Given the description of an element on the screen output the (x, y) to click on. 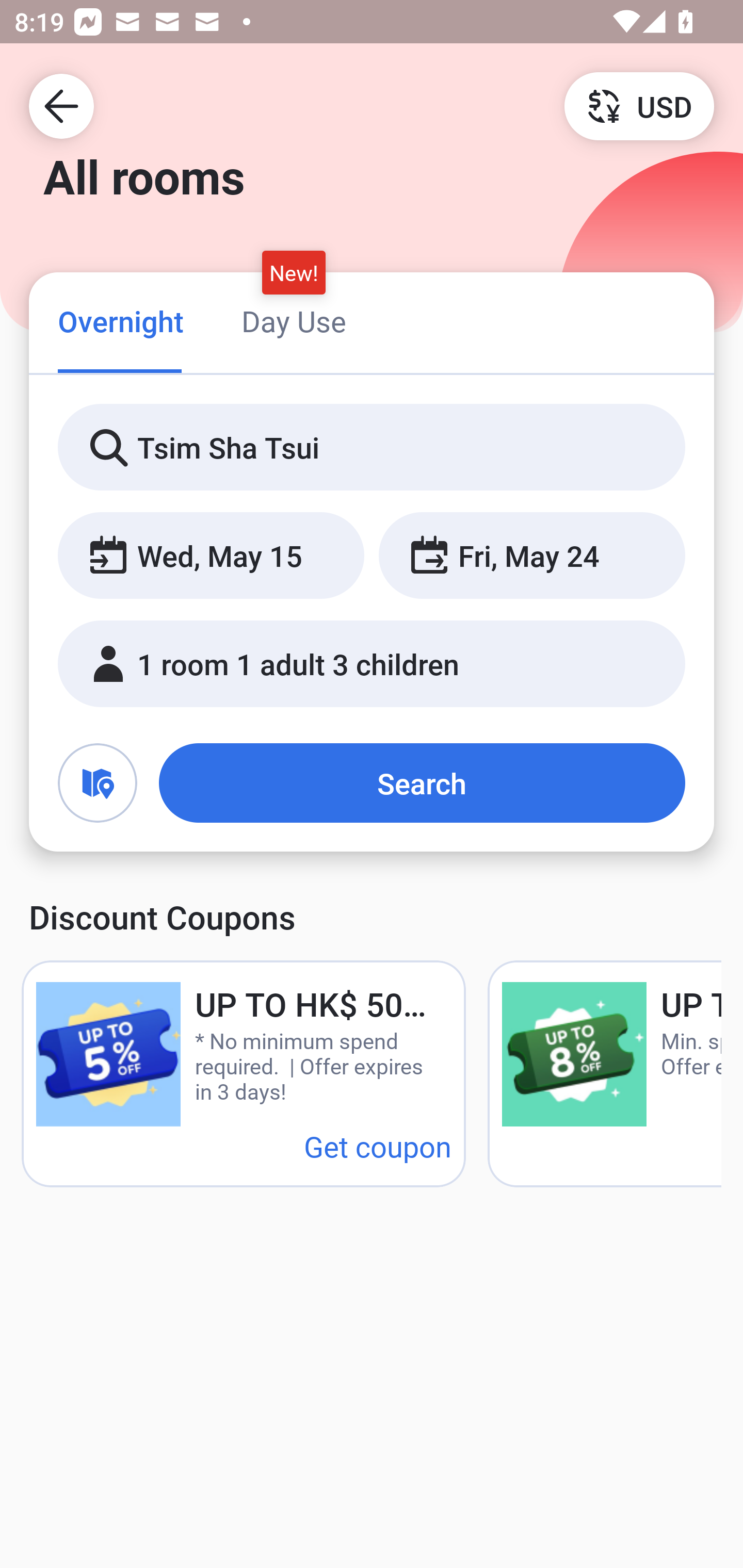
USD (639, 105)
New! (294, 272)
Day Use (293, 321)
Tsim Sha Tsui (371, 447)
Wed, May 15 (210, 555)
Fri, May 24 (531, 555)
1 room 1 adult 3 children (371, 663)
Search (422, 783)
Get coupon (377, 1146)
